Given the description of an element on the screen output the (x, y) to click on. 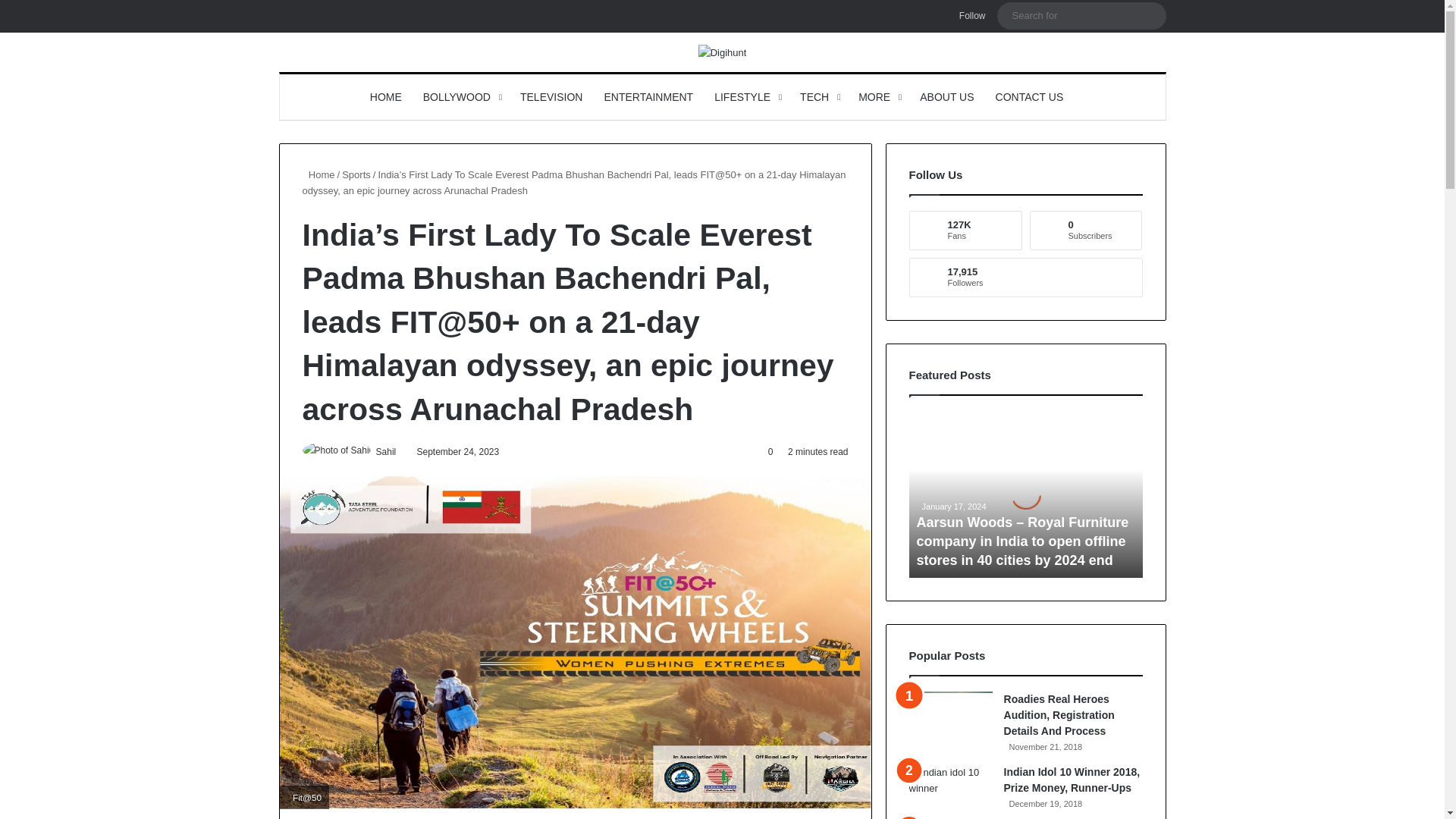
Digihunt (722, 52)
Home (317, 174)
ENTERTAINMENT (647, 96)
TECH (818, 96)
Sports (356, 174)
LIFESTYLE (746, 96)
HOME (385, 96)
Search for (1150, 15)
Search for (1081, 15)
Follow (968, 15)
ABOUT US (946, 96)
MORE (877, 96)
BOLLYWOOD (460, 96)
CONTACT US (1029, 96)
TELEVISION (550, 96)
